Given the description of an element on the screen output the (x, y) to click on. 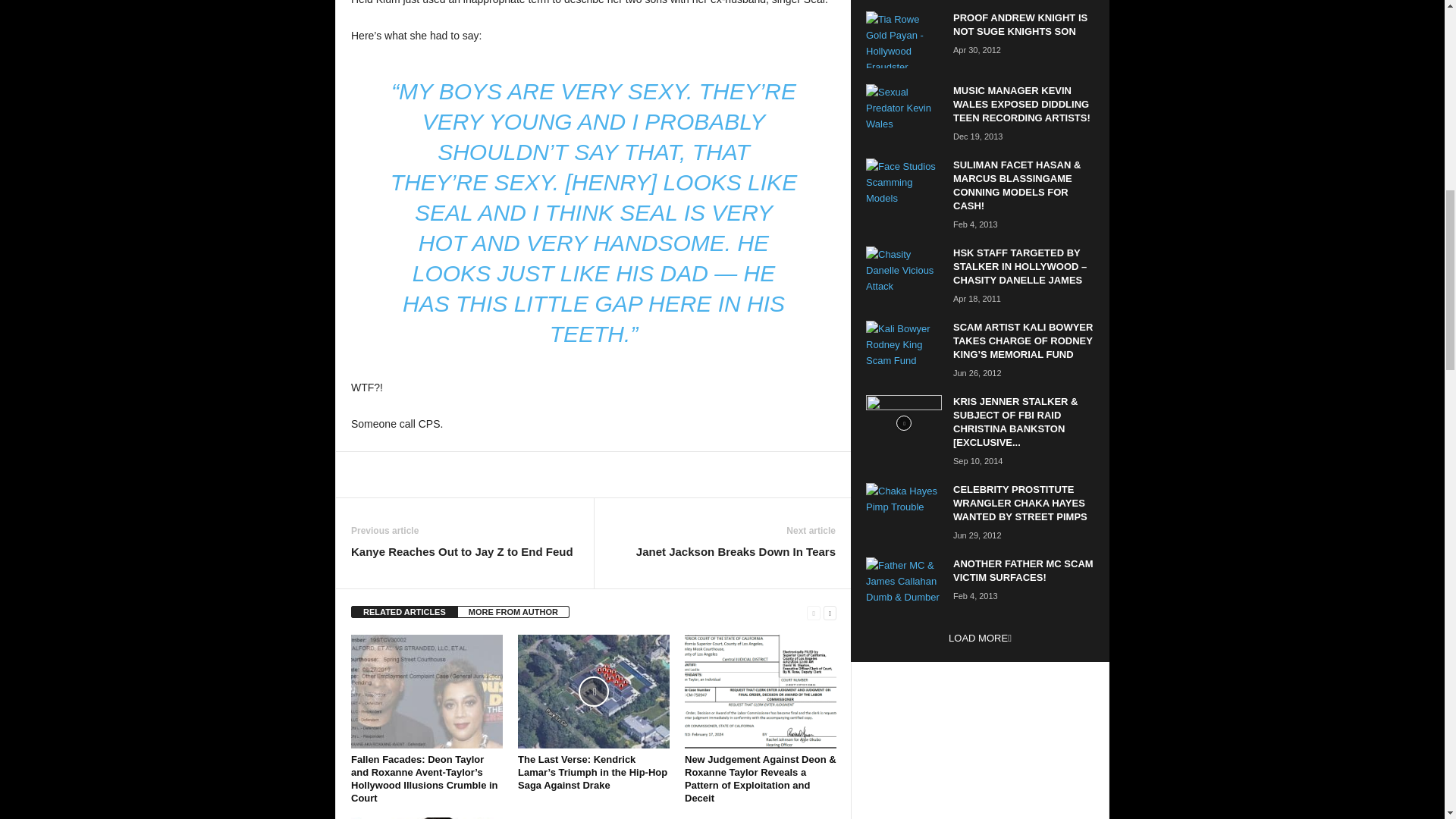
Kanye Reaches Out to Jay Z to End Feud (461, 551)
MORE FROM AUTHOR (513, 612)
RELATED ARTICLES (404, 612)
Janet Jackson Breaks Down In Tears (735, 551)
